Given the description of an element on the screen output the (x, y) to click on. 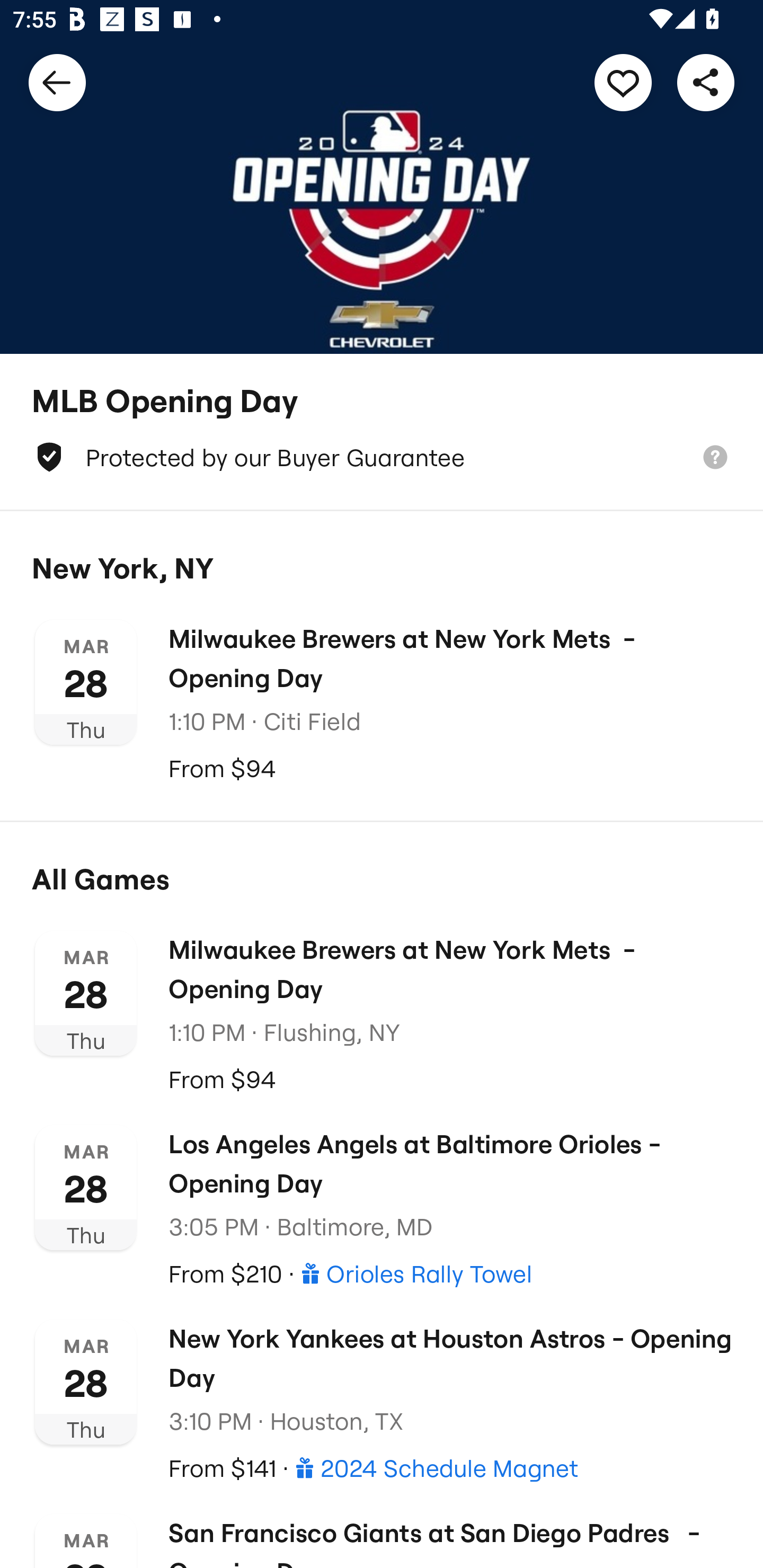
Back (57, 81)
Track this performer (623, 81)
Share this performer (705, 81)
Protected by our Buyer Guarantee Learn more (381, 456)
